Given the description of an element on the screen output the (x, y) to click on. 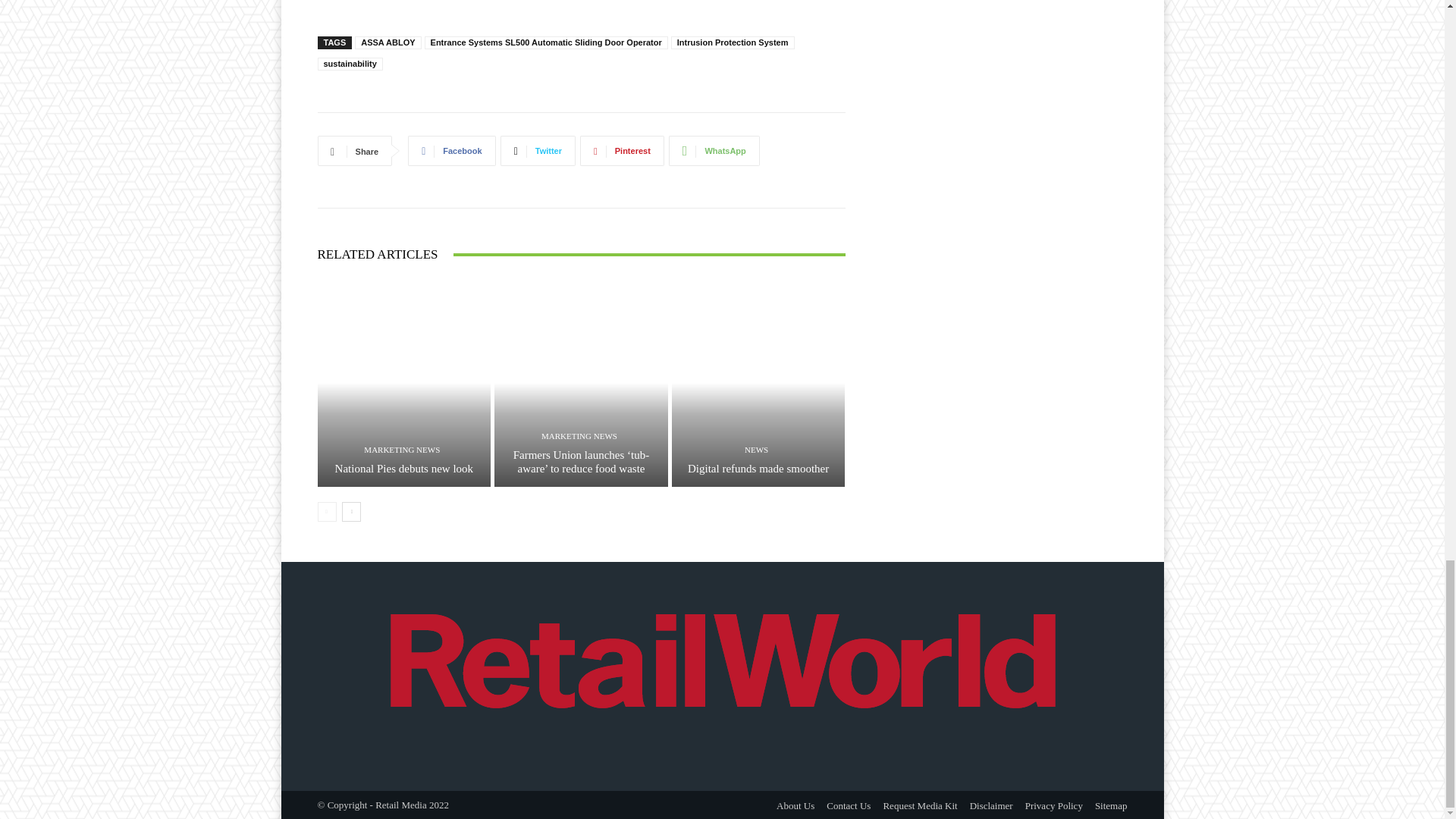
Facebook (451, 150)
Twitter (537, 150)
